Given the description of an element on the screen output the (x, y) to click on. 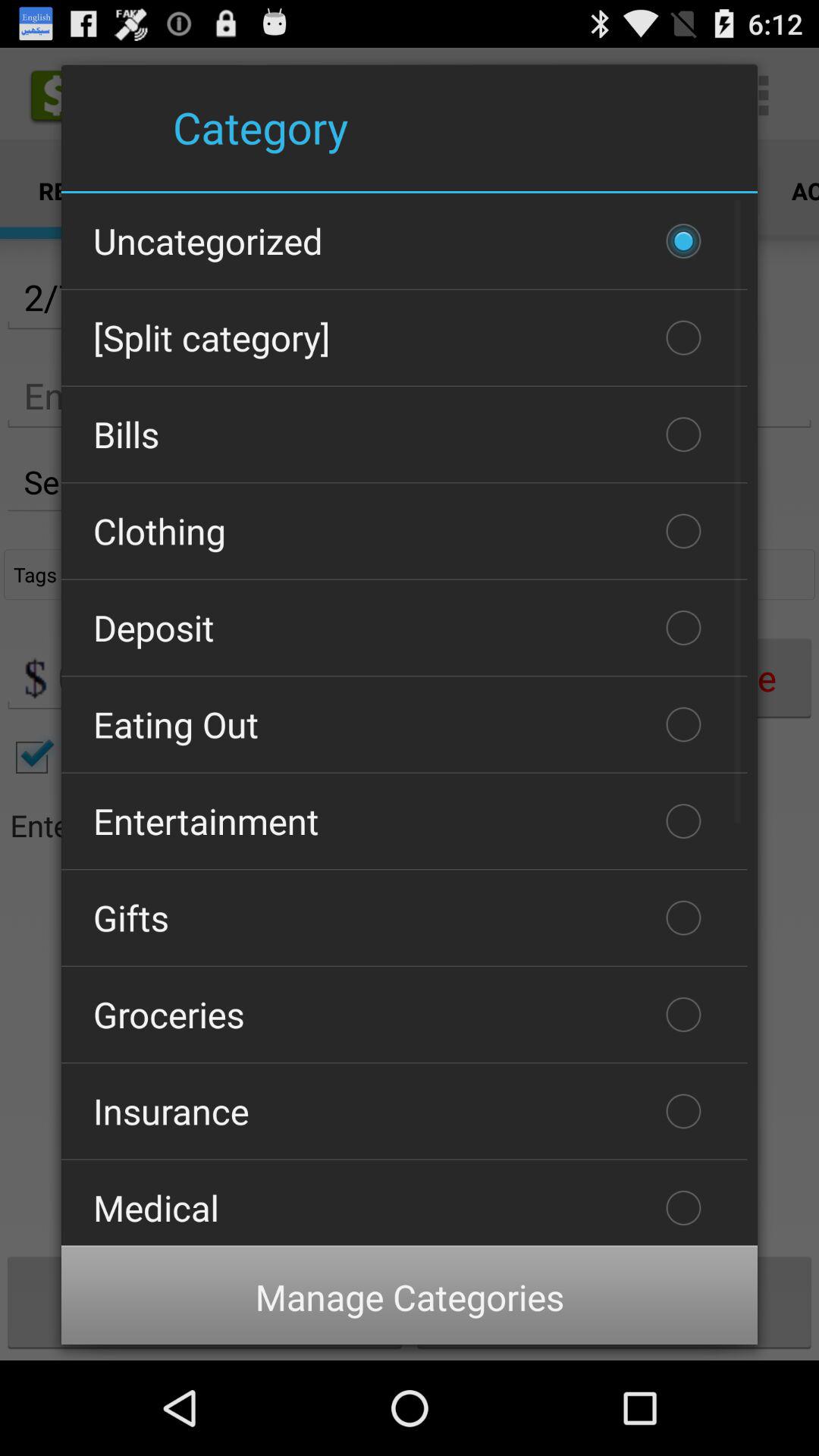
choose clothing (404, 530)
